Given the description of an element on the screen output the (x, y) to click on. 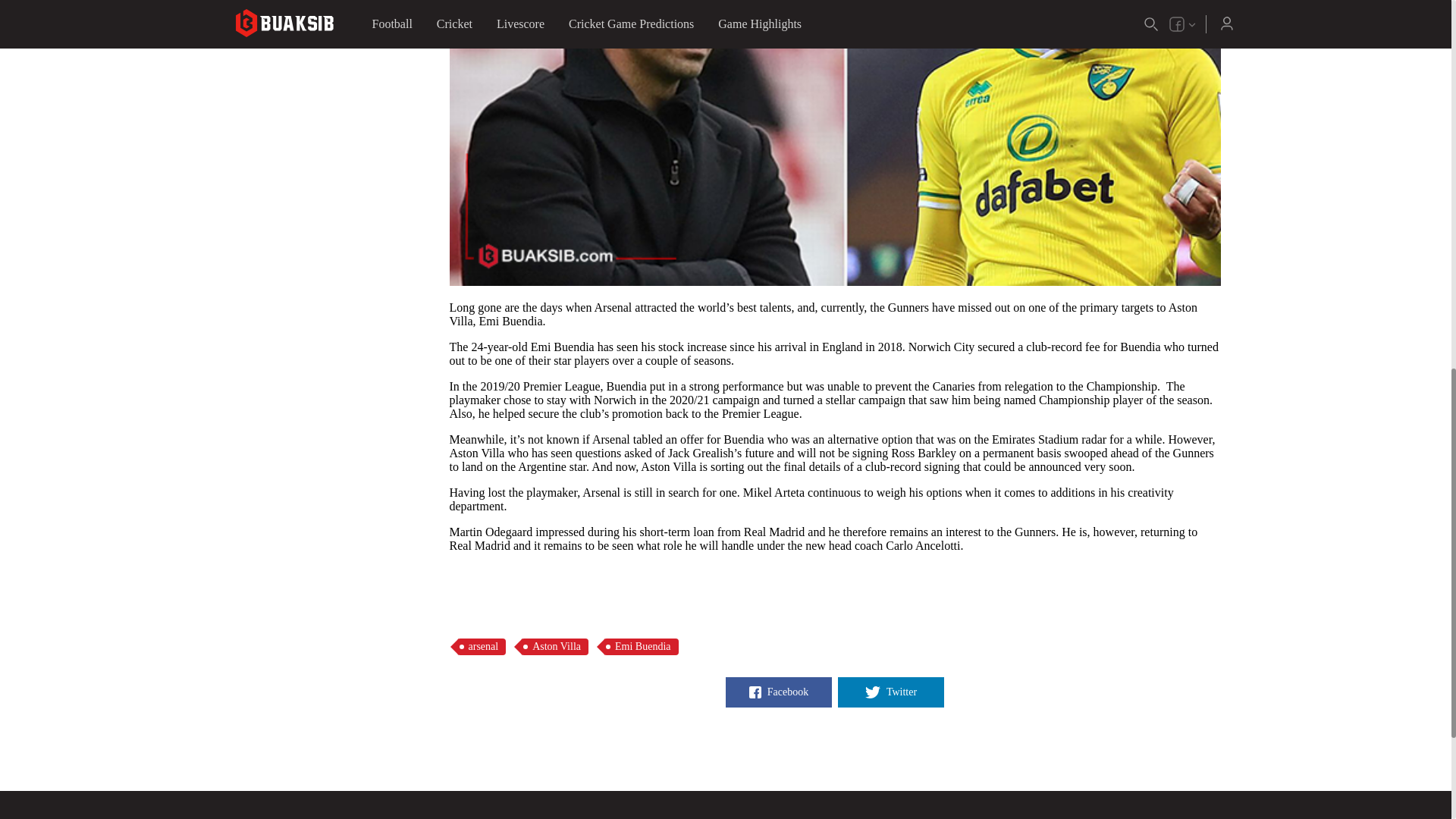
Twitter (890, 692)
Emi Buendia (641, 646)
Facebook (778, 692)
Aston Villa (554, 646)
Emi Buendia (641, 646)
arsenal (481, 646)
arsenal (481, 646)
Aston Villa (554, 646)
